Given the description of an element on the screen output the (x, y) to click on. 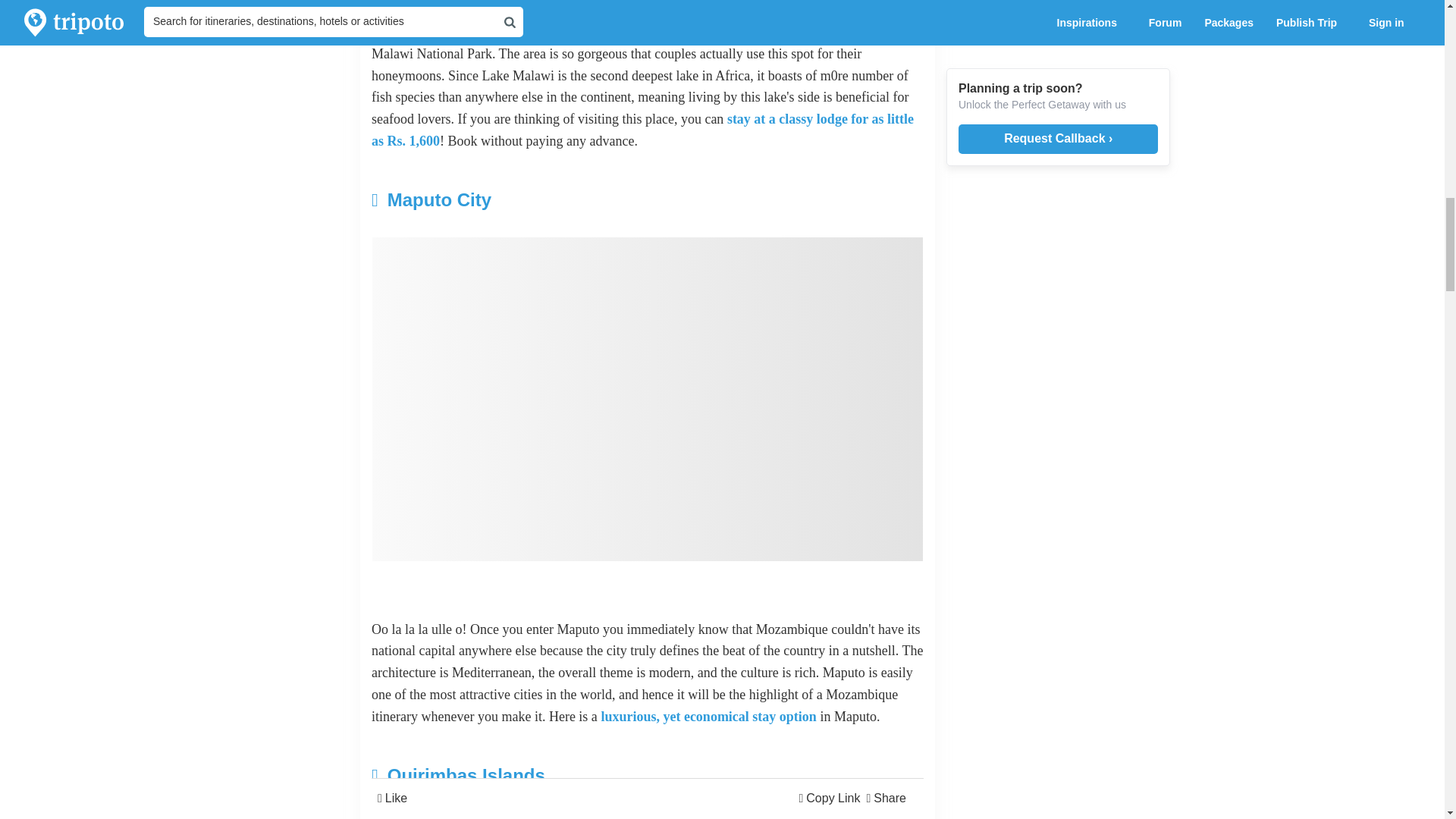
stay at a classy lodge for as little as Rs. 1,600 (642, 129)
Quirimbas Islands (555, 775)
luxurious, yet economical stay option (707, 716)
Maputo City (555, 199)
